Given the description of an element on the screen output the (x, y) to click on. 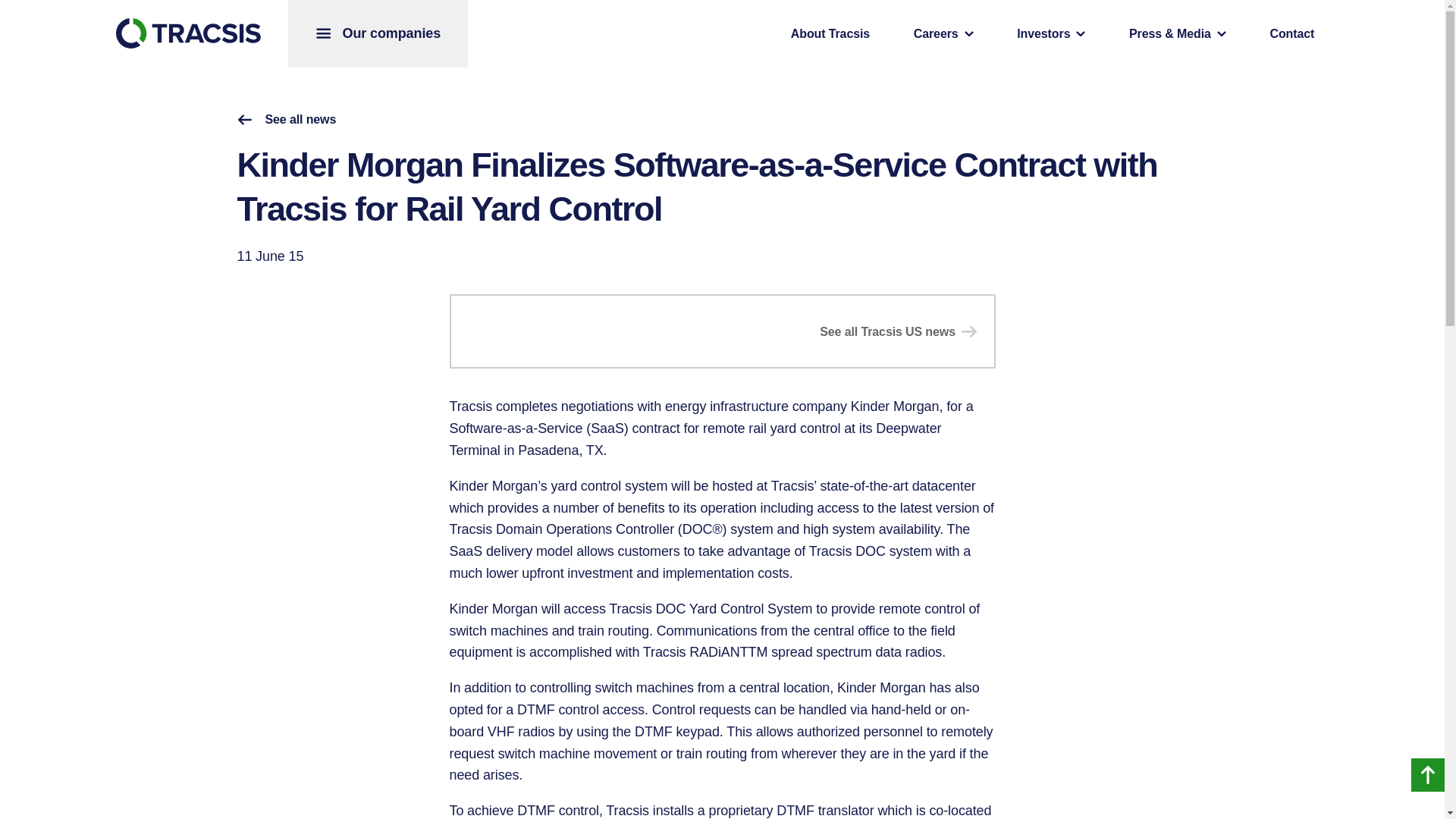
About Tracsis (830, 33)
Contact (1291, 33)
Investors (1051, 33)
Careers (943, 33)
